Given the description of an element on the screen output the (x, y) to click on. 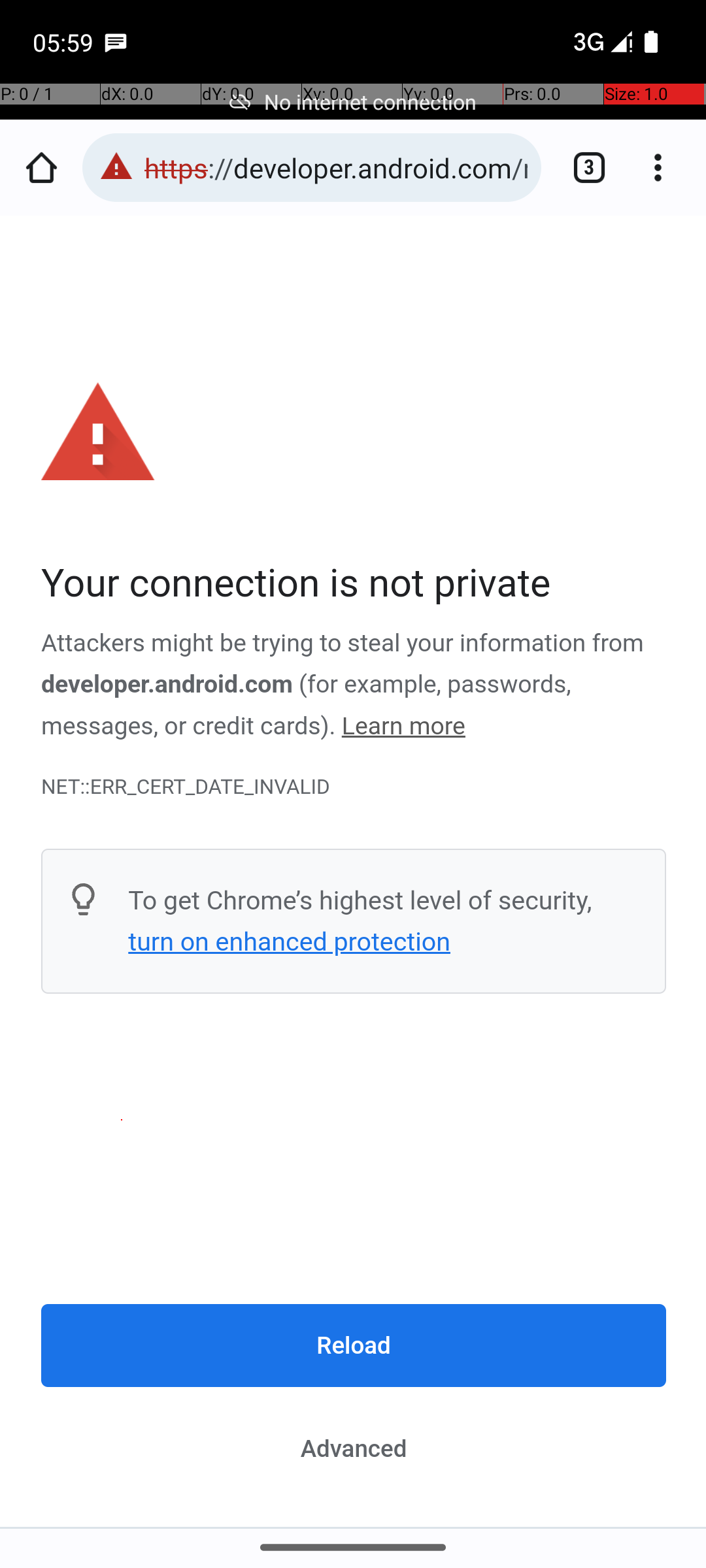
https://developer.android.com/reference/java/text/SimpleDateFormat#date-and-time-patterns Element type: android.widget.EditText (335, 167)
developer.android.com Element type: android.widget.TextView (166, 684)
05:59 Element type: android.widget.TextView (64, 41)
